Given the description of an element on the screen output the (x, y) to click on. 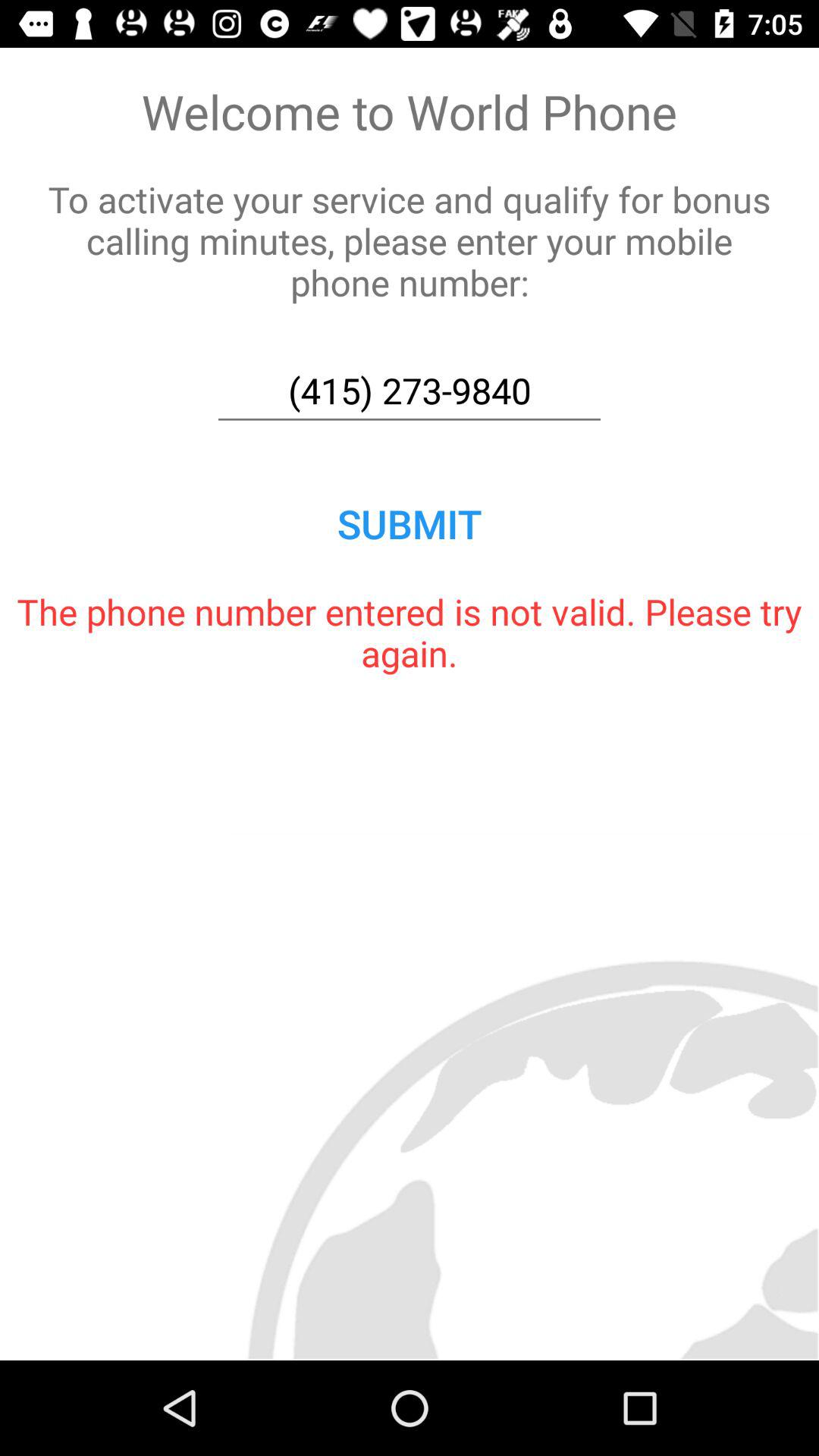
press icon above the submit item (409, 391)
